Given the description of an element on the screen output the (x, y) to click on. 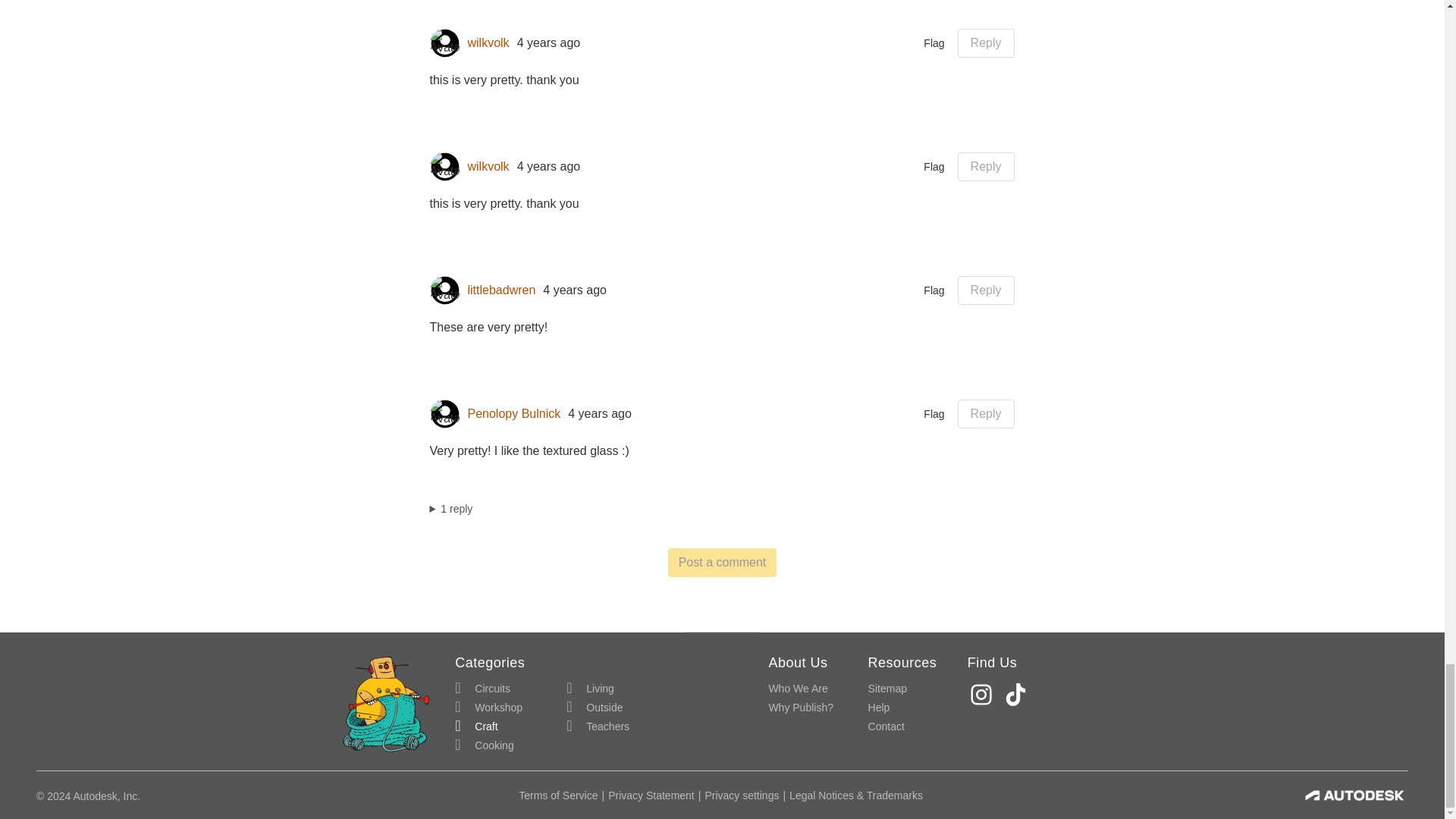
2020-09-03 12:58:35.0 (548, 43)
Instagram (983, 694)
TikTok (1018, 694)
2020-09-01 08:05:16.0 (575, 290)
2020-09-03 12:58:35.0 (548, 166)
2020-08-31 14:09:53.0 (599, 413)
